Given the description of an element on the screen output the (x, y) to click on. 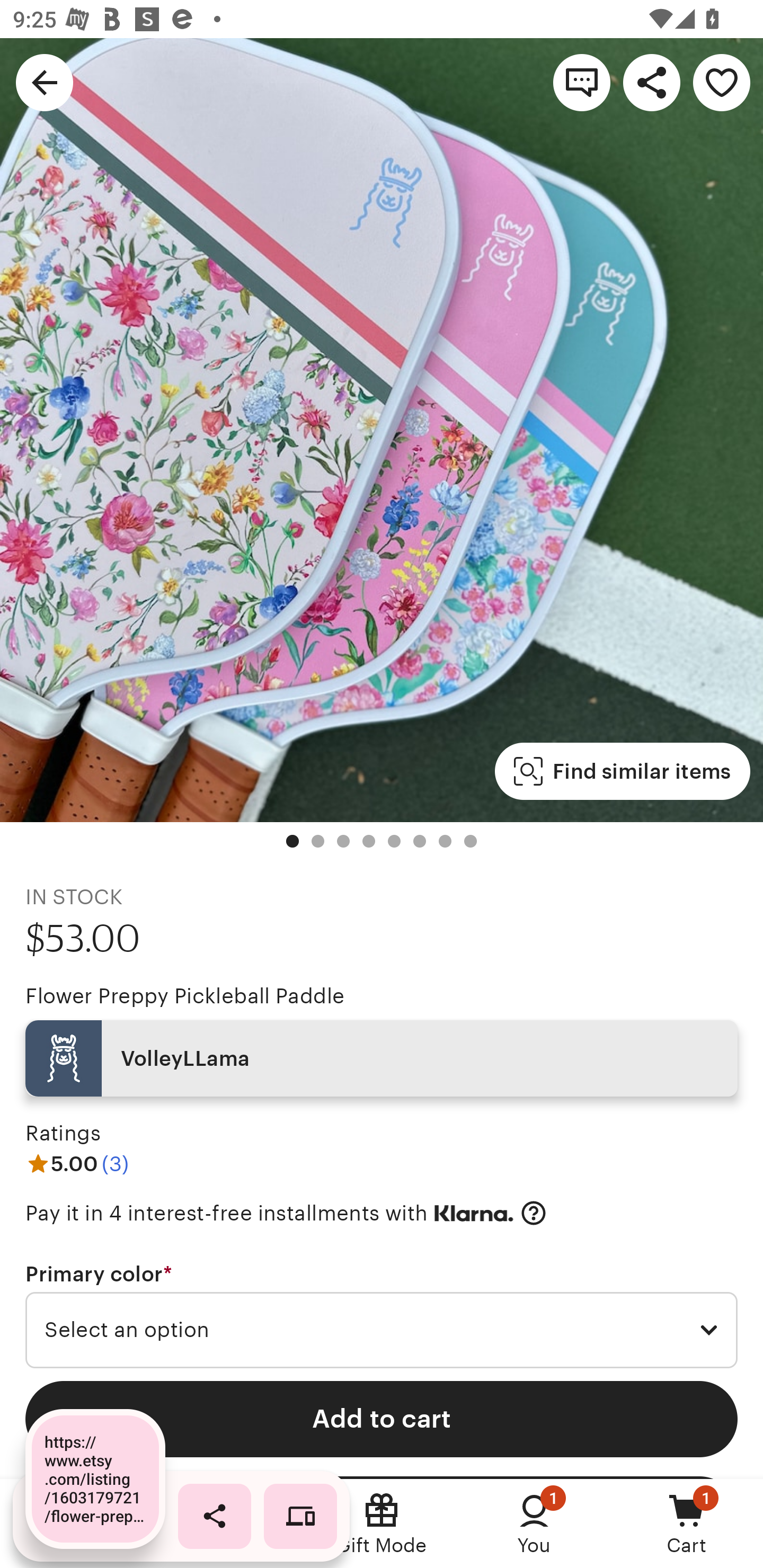
Navigate up (44, 81)
Contact shop (581, 81)
Share (651, 81)
Find similar items (622, 771)
Flower Preppy Pickleball Paddle (184, 996)
VolleyLLama (381, 1058)
Ratings (62, 1133)
5.00 (3) (76, 1163)
Primary color * Required Select an option (381, 1315)
Select an option (381, 1330)
Add to cart (381, 1418)
Gift Mode (381, 1523)
You, 1 new notification You (533, 1523)
